Given the description of an element on the screen output the (x, y) to click on. 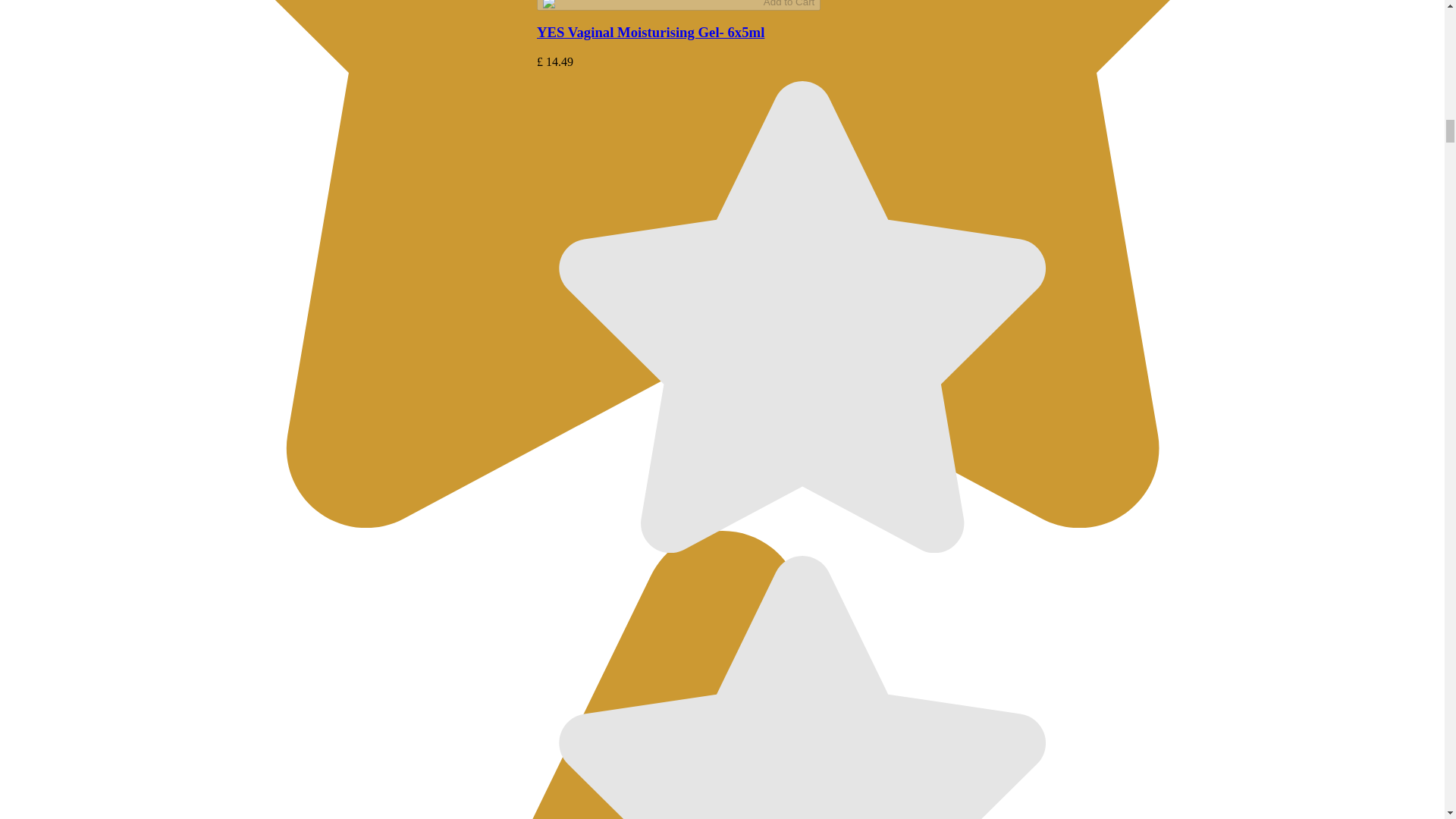
learn more (802, 3)
